Given the description of an element on the screen output the (x, y) to click on. 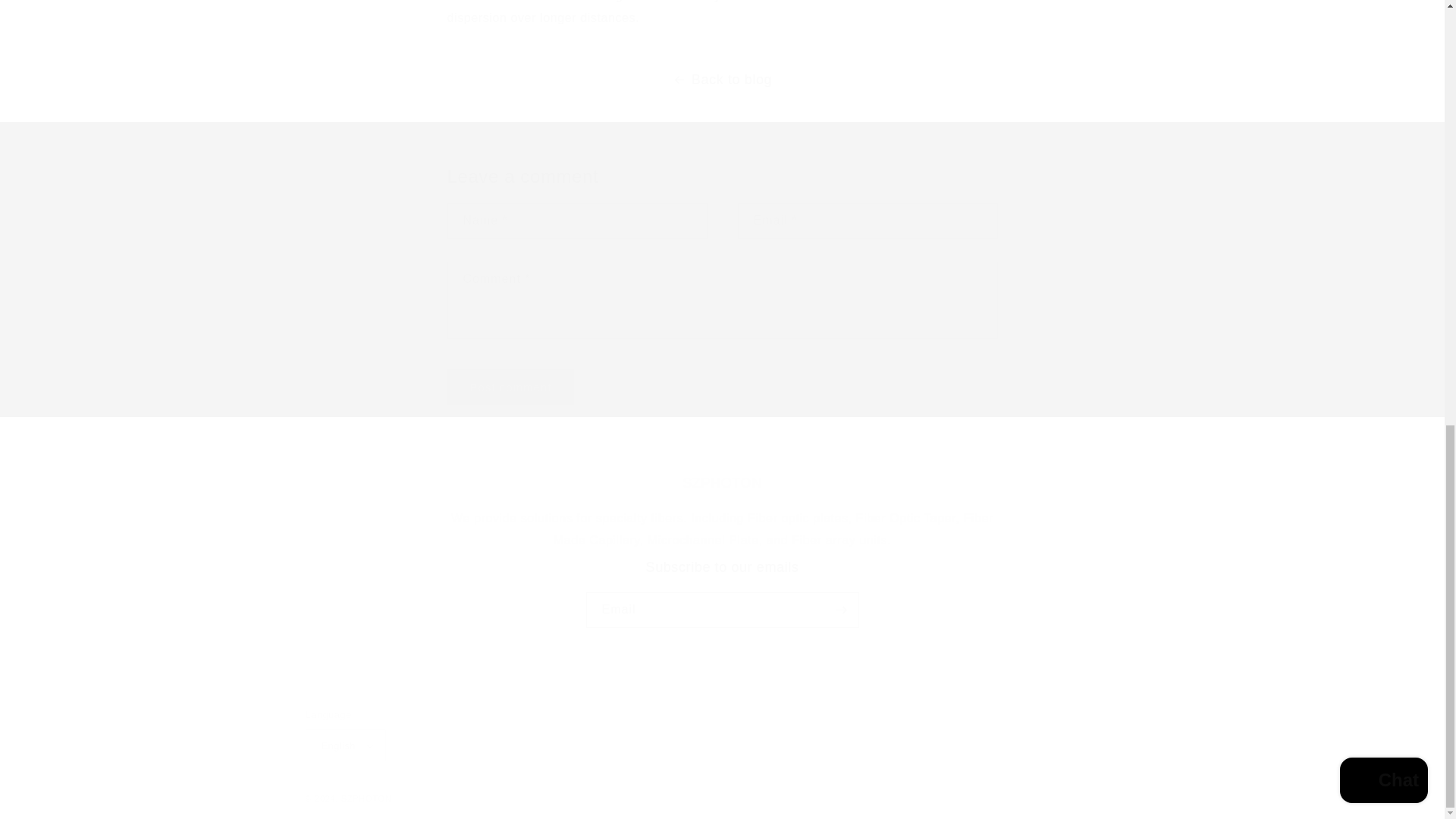
Post comment (721, 592)
